Given the description of an element on the screen output the (x, y) to click on. 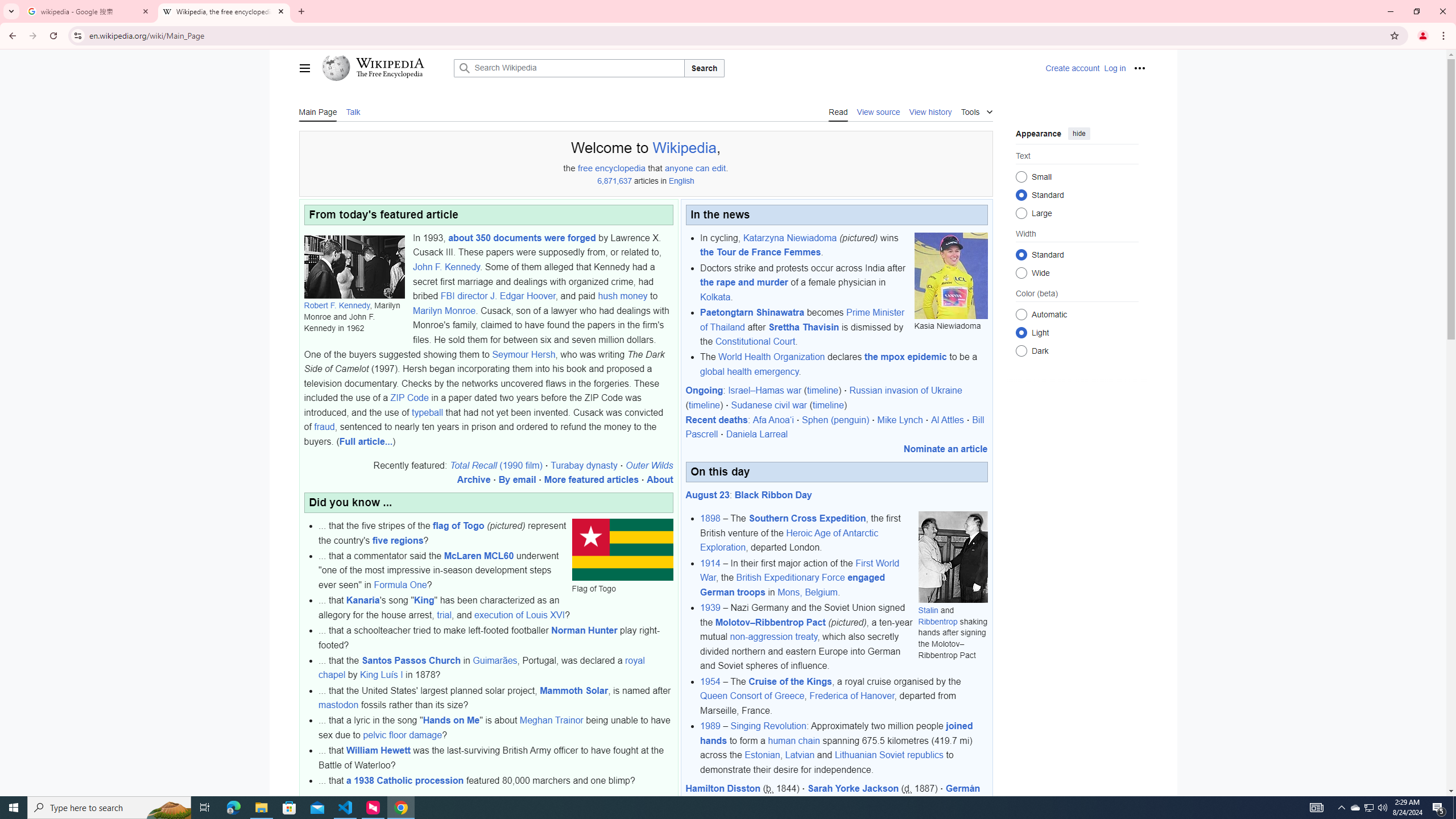
Latvian (799, 755)
free (584, 167)
AutomationID: ca-history (930, 111)
Wikipedia (684, 148)
Bill Pascrell (834, 426)
Stalin (928, 610)
Ribbentrop (937, 621)
hide (1078, 133)
Prime Minister of Thailand (802, 319)
Main Page (317, 111)
